Given the description of an element on the screen output the (x, y) to click on. 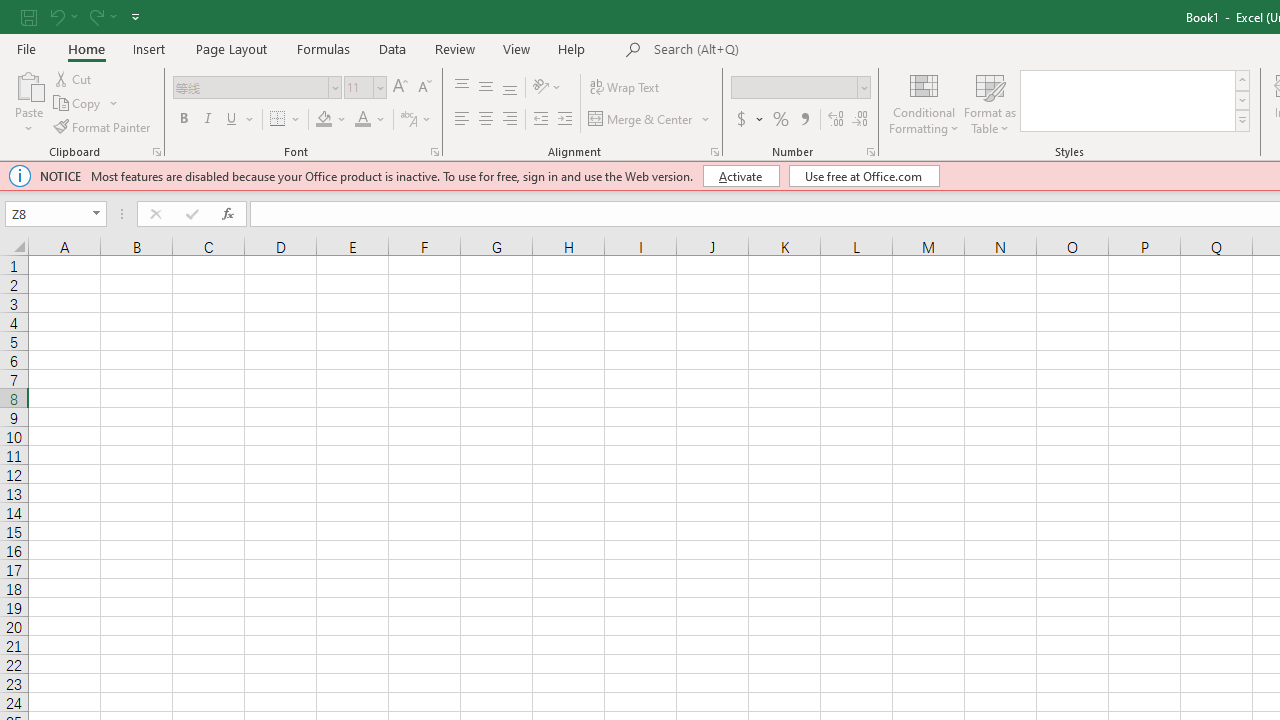
Format Cell Font (434, 151)
Bottom Border (278, 119)
Accounting Number Format (741, 119)
Fill Color (331, 119)
Paste (28, 84)
Accounting Number Format (749, 119)
